Given the description of an element on the screen output the (x, y) to click on. 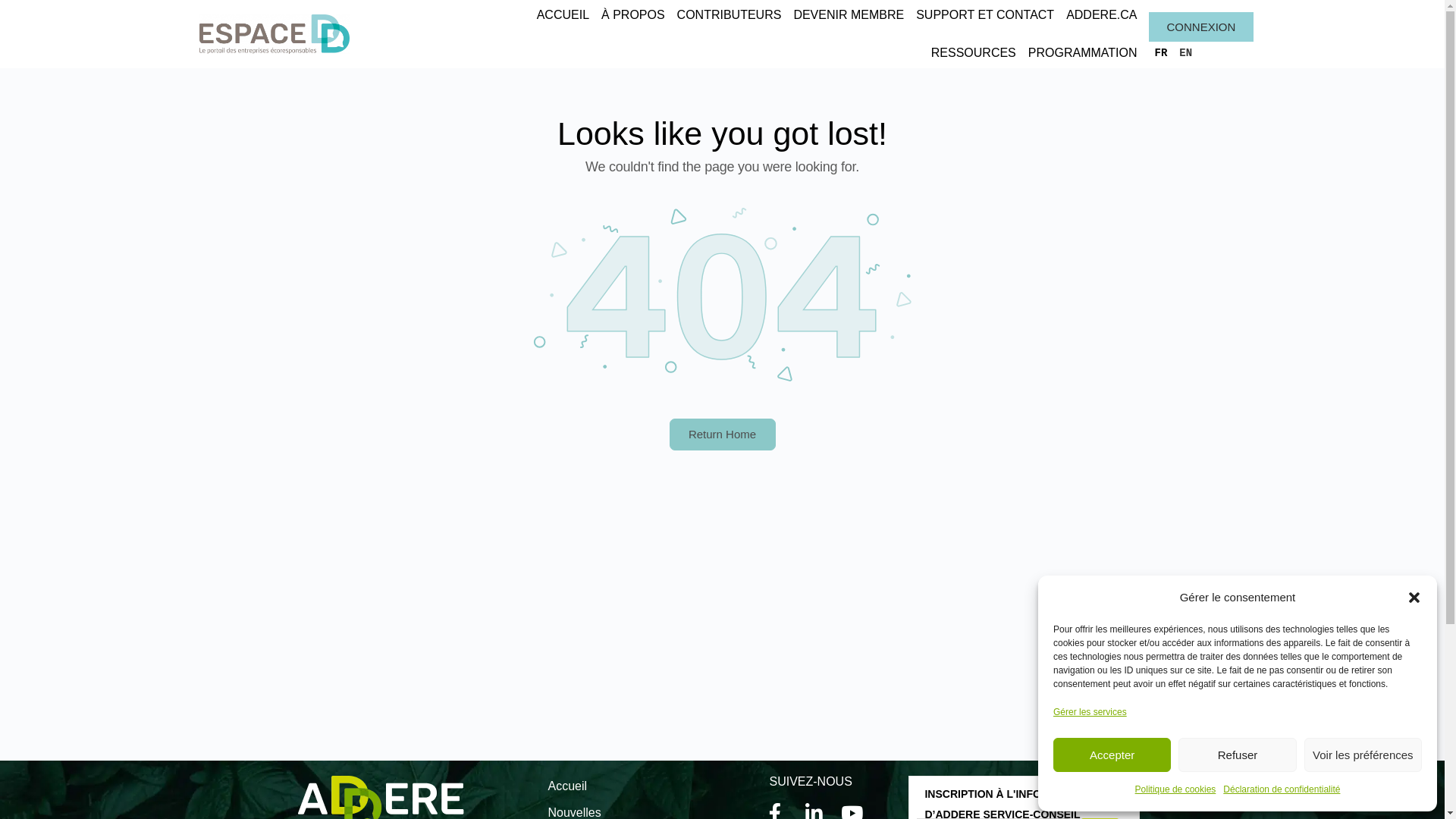
Politique de cookies Element type: text (1175, 789)
CONTRIBUTEURS Element type: text (729, 14)
Return Home Element type: text (721, 434)
Accepter Element type: text (1111, 754)
CONNEXION Element type: text (1200, 26)
FR Element type: text (1160, 52)
ADDERE.CA Element type: text (1101, 14)
PROGRAMMATION Element type: text (1082, 52)
ACCUEIL Element type: text (562, 14)
Refuser Element type: text (1236, 754)
DEVENIR MEMBRE Element type: text (848, 14)
RESSOURCES Element type: text (973, 52)
Accueil Element type: text (650, 785)
SUPPORT ET CONTACT Element type: text (985, 14)
EN Element type: text (1185, 52)
